Given the description of an element on the screen output the (x, y) to click on. 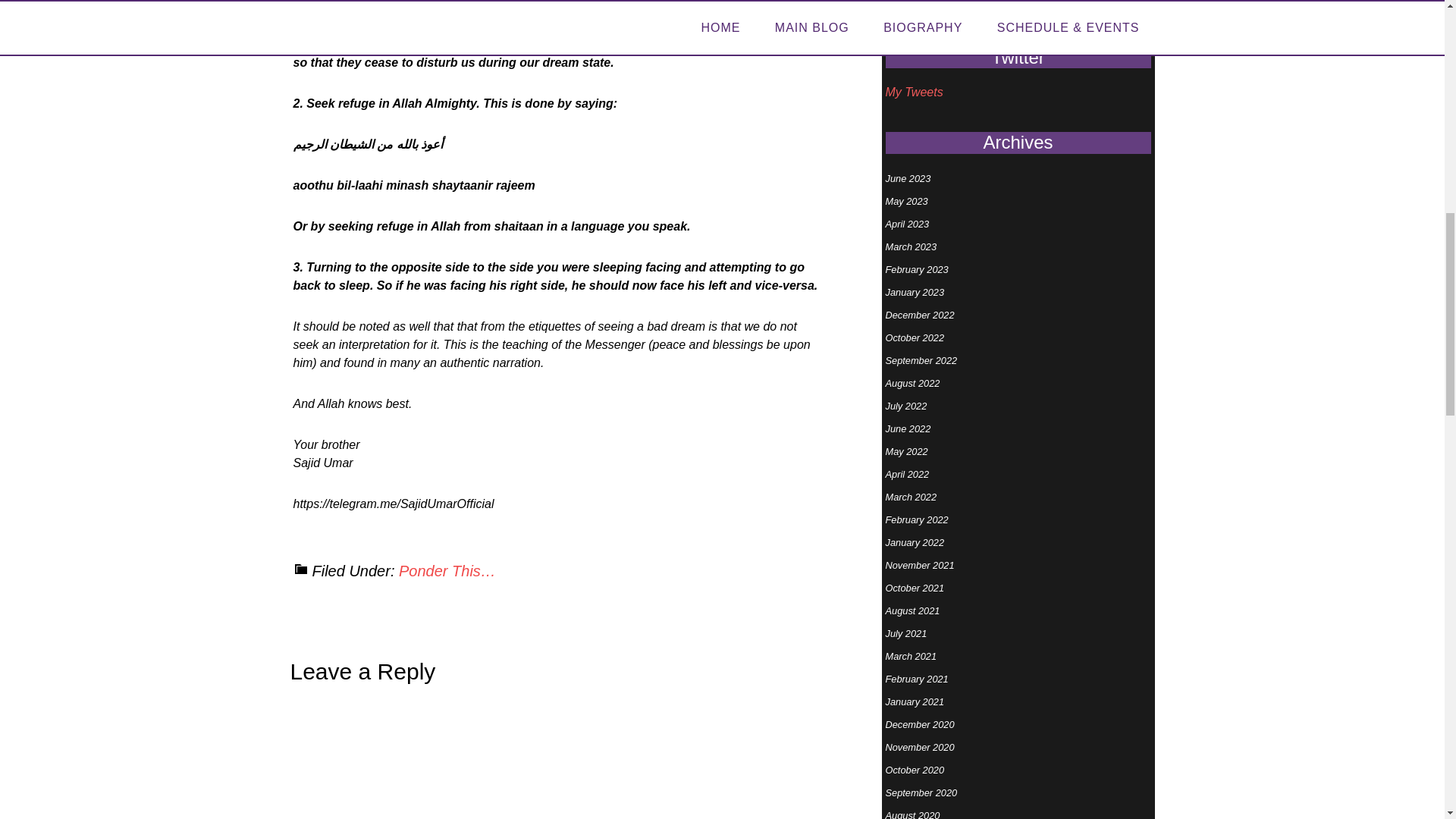
Share on Facebook (500, 545)
Pin it with Pinterest (566, 545)
Share on Linkedin (587, 545)
Share by email (610, 545)
Share on Reddit (544, 545)
Share on Twitter (522, 545)
